Given the description of an element on the screen output the (x, y) to click on. 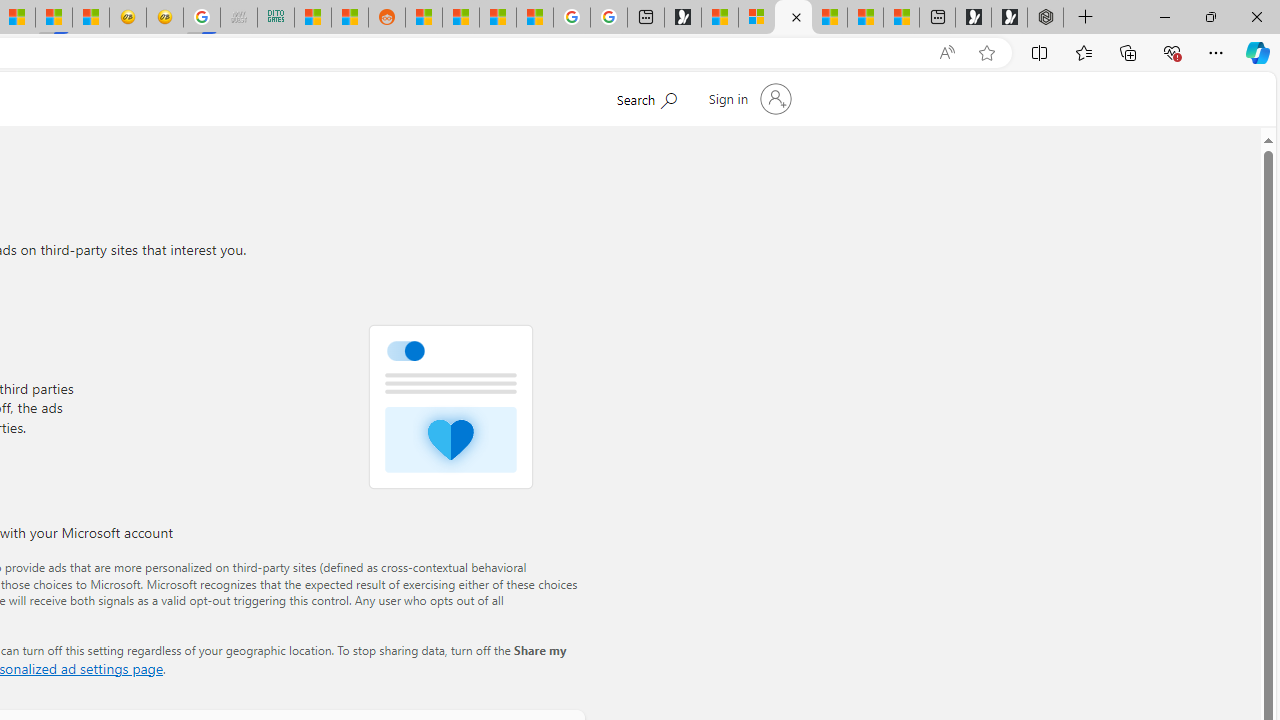
MSN (53, 17)
These 3 Stocks Pay You More Than 5% to Own Them (901, 17)
Sign in to your account (748, 98)
